Given the description of an element on the screen output the (x, y) to click on. 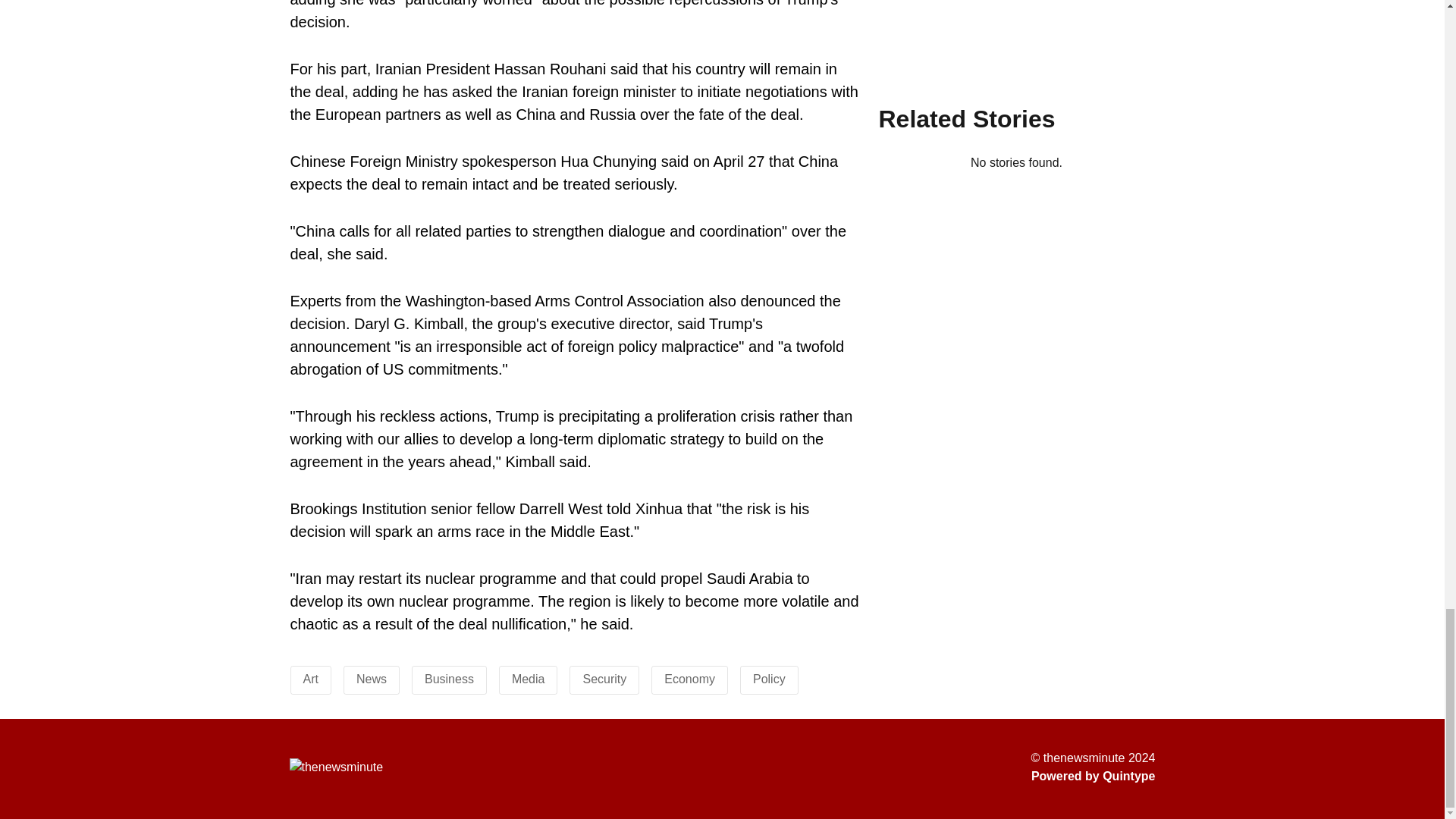
Policy (769, 678)
Business (449, 678)
News (371, 678)
Security (604, 678)
Media (528, 678)
Art (310, 678)
Powered by Quintype (1093, 776)
Economy (688, 678)
